Given the description of an element on the screen output the (x, y) to click on. 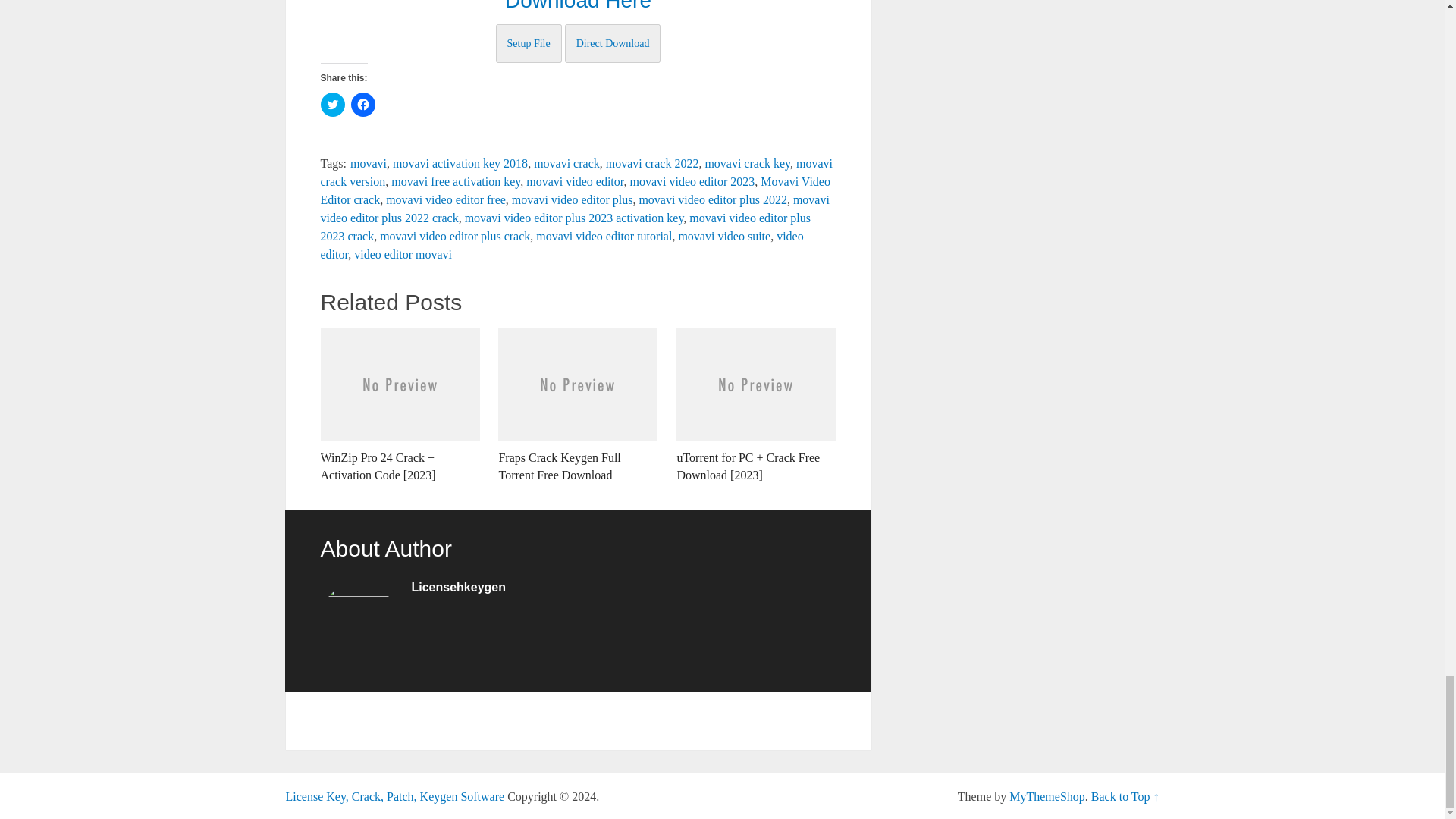
Click to share on Facebook (362, 104)
movavi (368, 163)
Direct Download (612, 43)
Click to share on Twitter (331, 104)
movavi activation key 2018 (460, 163)
Setup File Direct Download (578, 42)
Fraps Crack Keygen Full Torrent Free Download (577, 405)
Setup File (529, 43)
Download Here (577, 6)
